Given the description of an element on the screen output the (x, y) to click on. 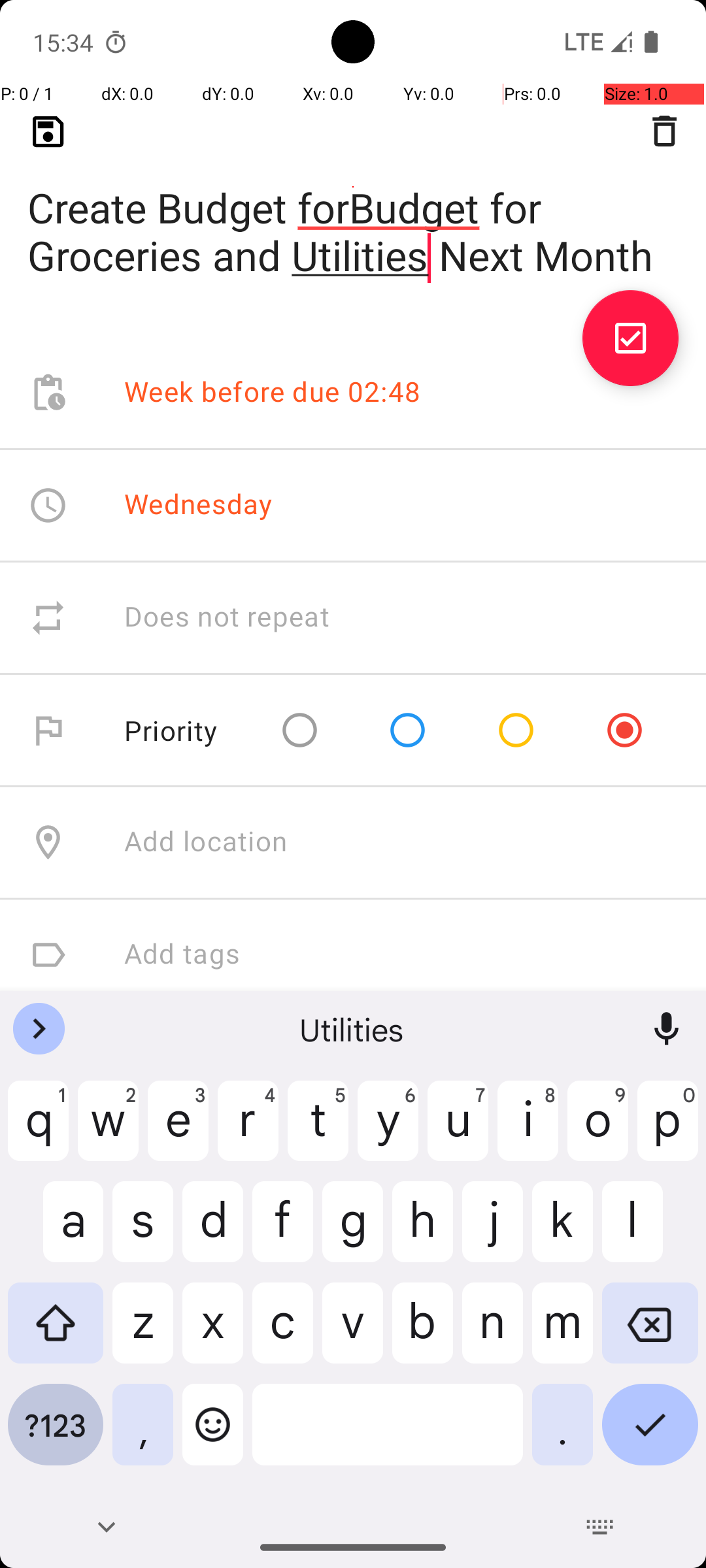
Create Budget forBudget for Groceries and Utilities Next Month Element type: android.widget.EditText (353, 210)
Week before due 02:48 Element type: android.widget.TextView (272, 392)
Utilities Element type: android.widget.FrameLayout (352, 1028)
